Given the description of an element on the screen output the (x, y) to click on. 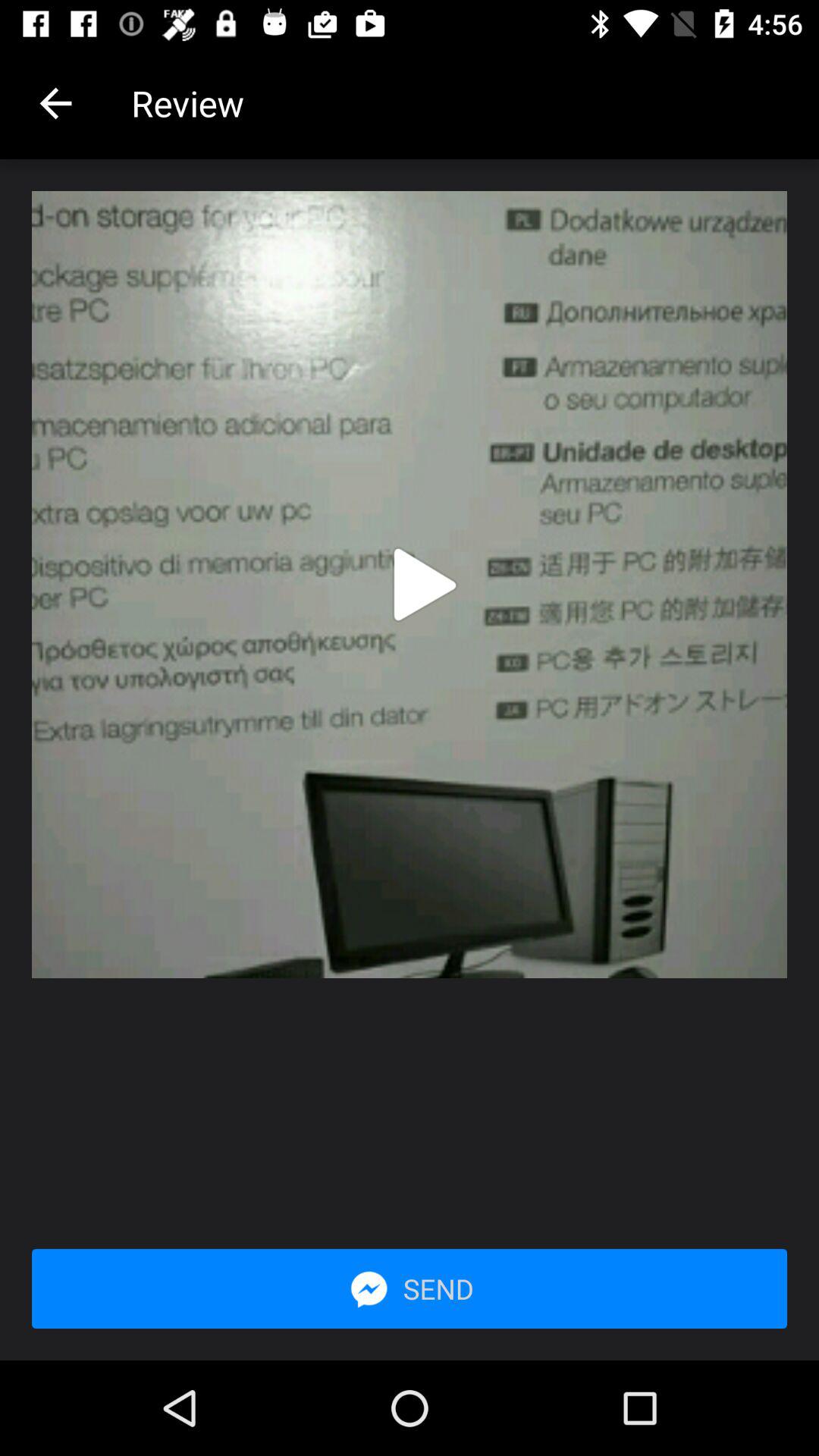
play video (425, 584)
